Given the description of an element on the screen output the (x, y) to click on. 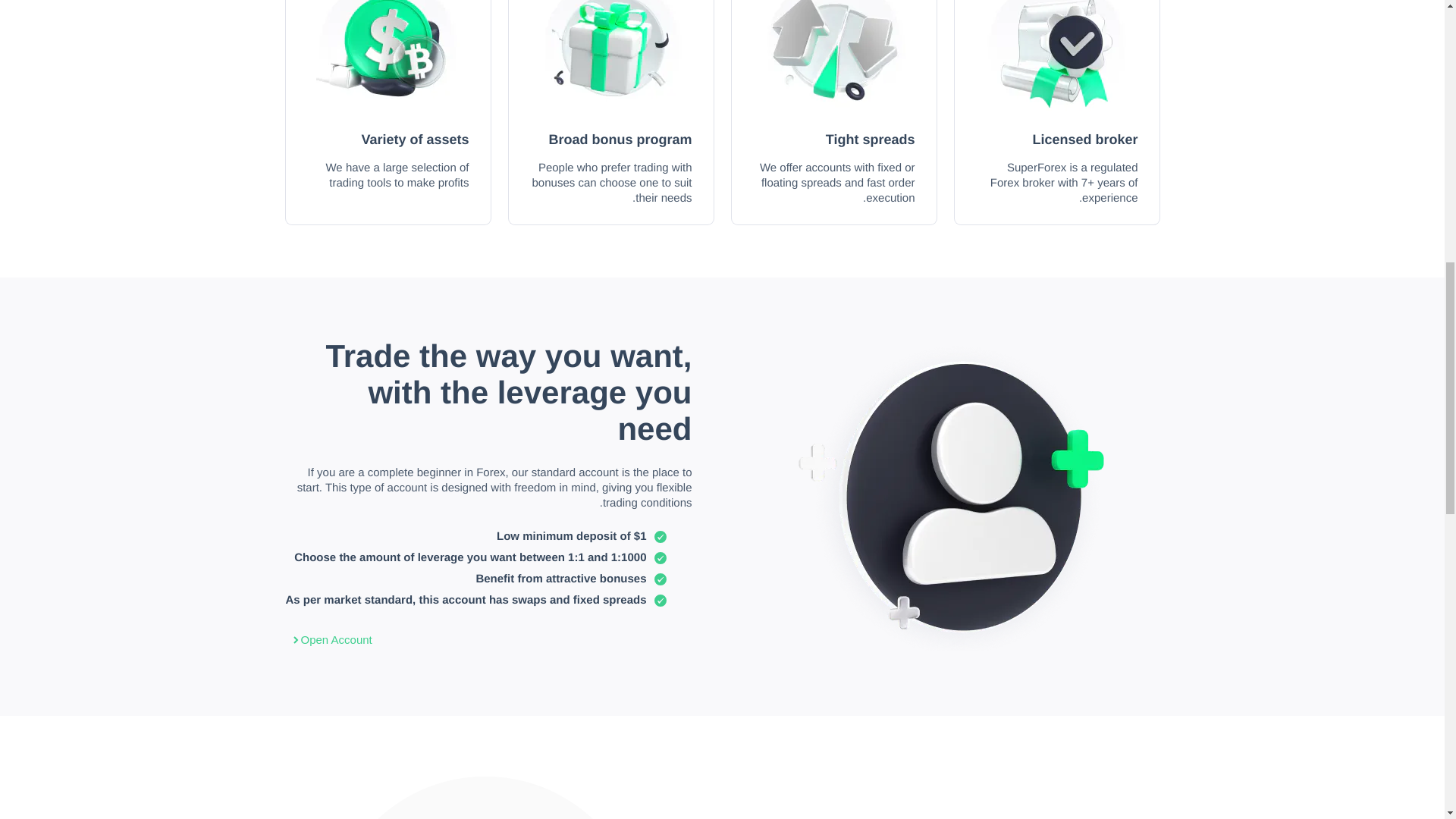
Open Account (328, 640)
